Given the description of an element on the screen output the (x, y) to click on. 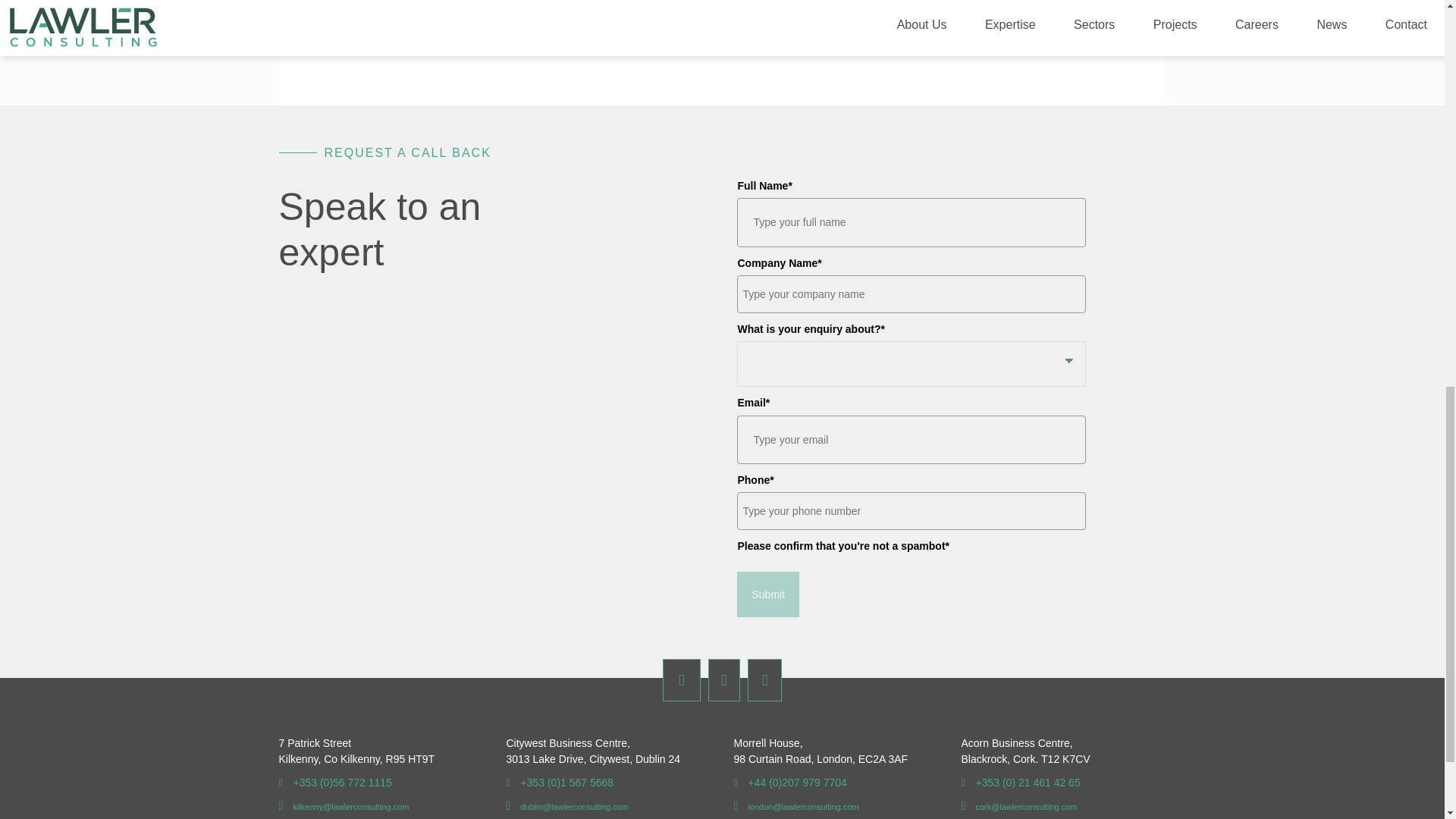
Submit (767, 594)
Link to call Kilkenny Office (335, 782)
Link to Lawler Consulting Facebook Page (681, 680)
Swiftcare Screening Centre (1047, 18)
Link to call Dublin Office (560, 782)
Wygram Nursing Home (812, 18)
Primary Care Centres (608, 7)
Link to email Lawler Consulting (796, 806)
Link to email Lawler Consulting (567, 806)
Link to call London Office (790, 782)
